Given the description of an element on the screen output the (x, y) to click on. 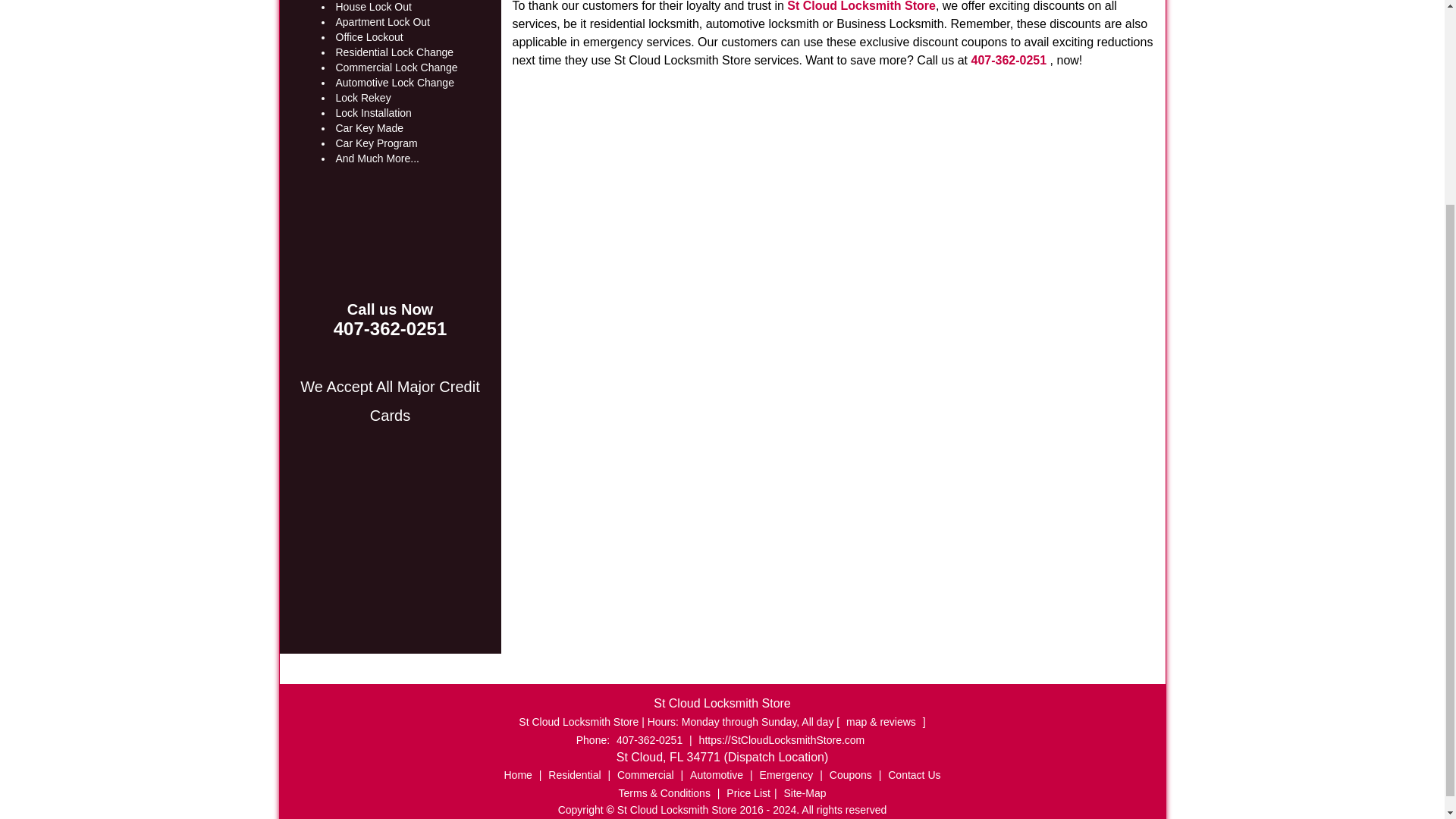
407-362-0251 (389, 329)
Emergency (785, 775)
Residential (574, 775)
407-362-0251 (1008, 60)
Automotive (715, 775)
Commercial (645, 775)
Home (517, 775)
St Cloud Locksmith Store (860, 6)
407-362-0251 (648, 739)
